Given the description of an element on the screen output the (x, y) to click on. 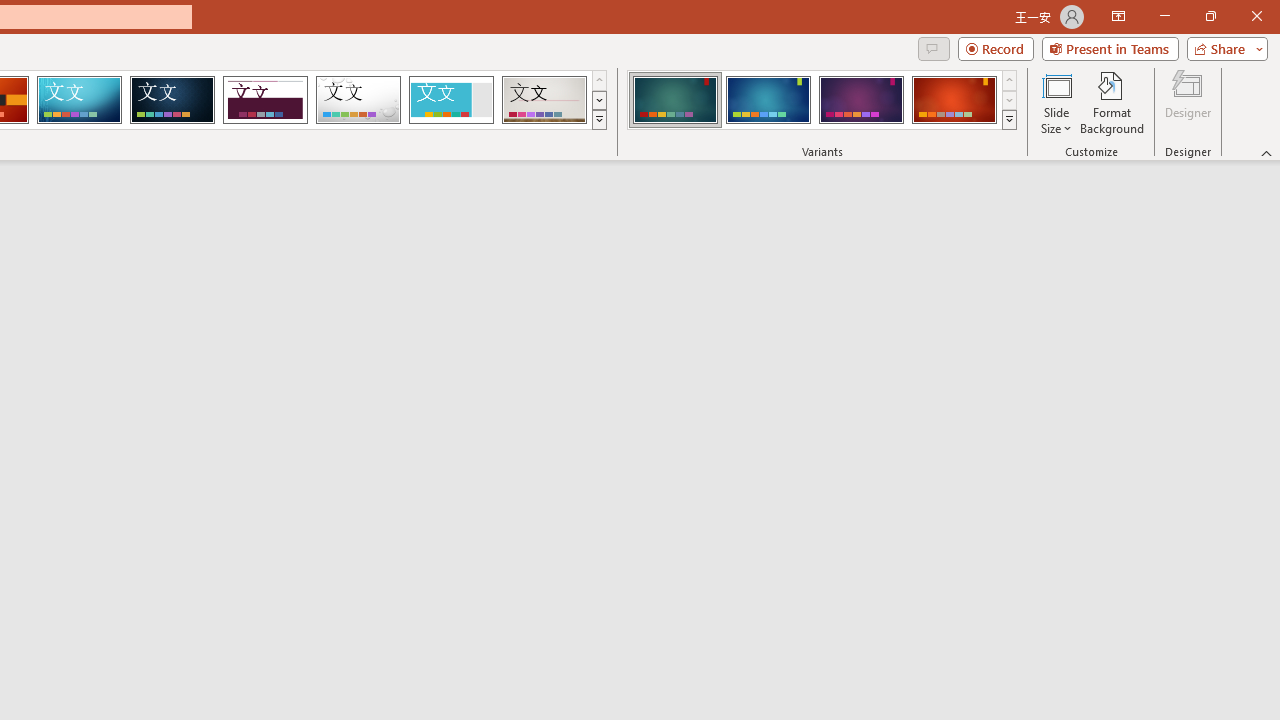
Frame Loading Preview... (450, 100)
Damask Loading Preview... (171, 100)
Ion Variant 1 (674, 100)
Dividend Loading Preview... (265, 100)
